Given the description of an element on the screen output the (x, y) to click on. 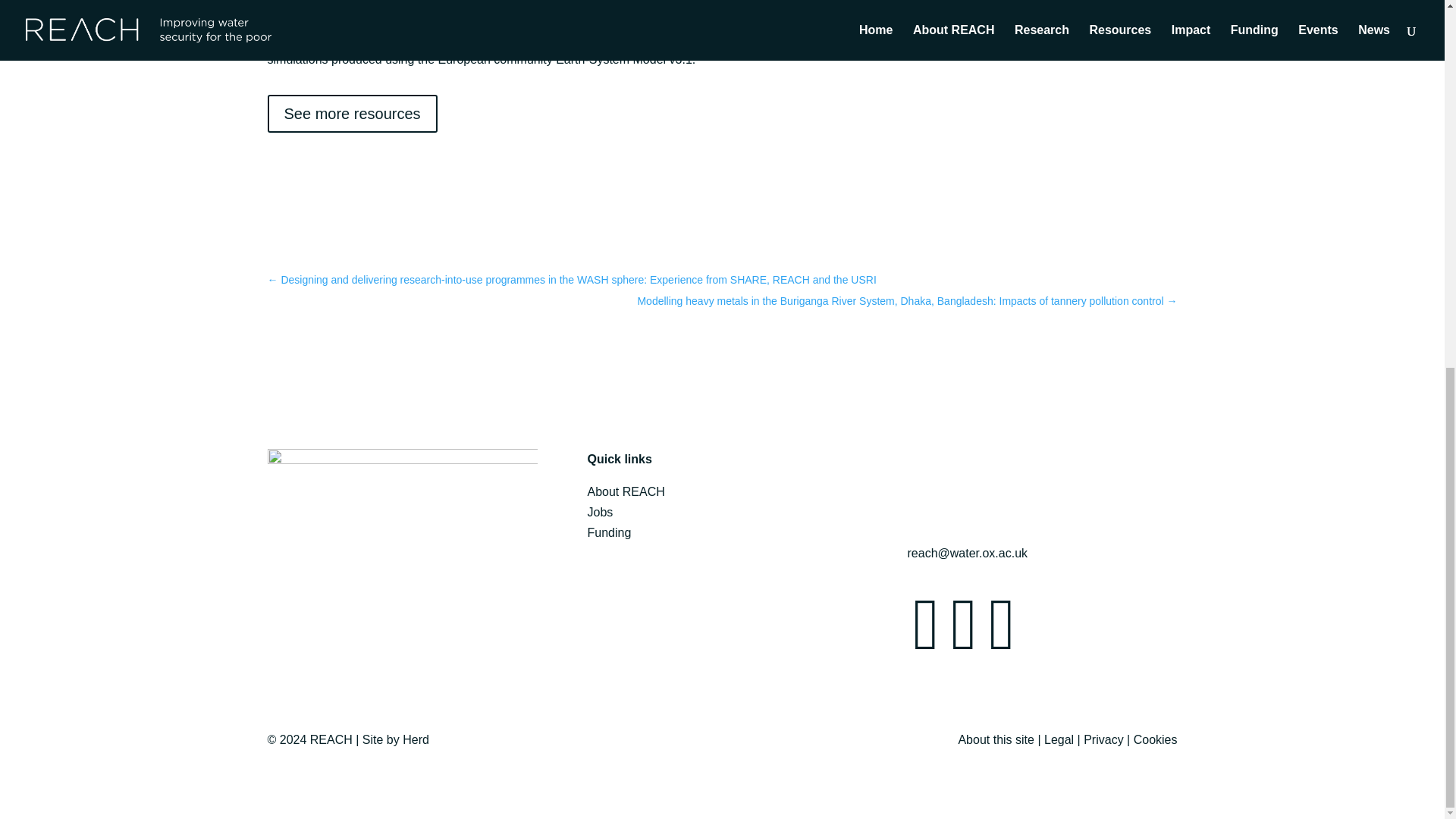
Download the resource (928, 1)
See more resources (351, 113)
About REACH (624, 491)
